Given the description of an element on the screen output the (x, y) to click on. 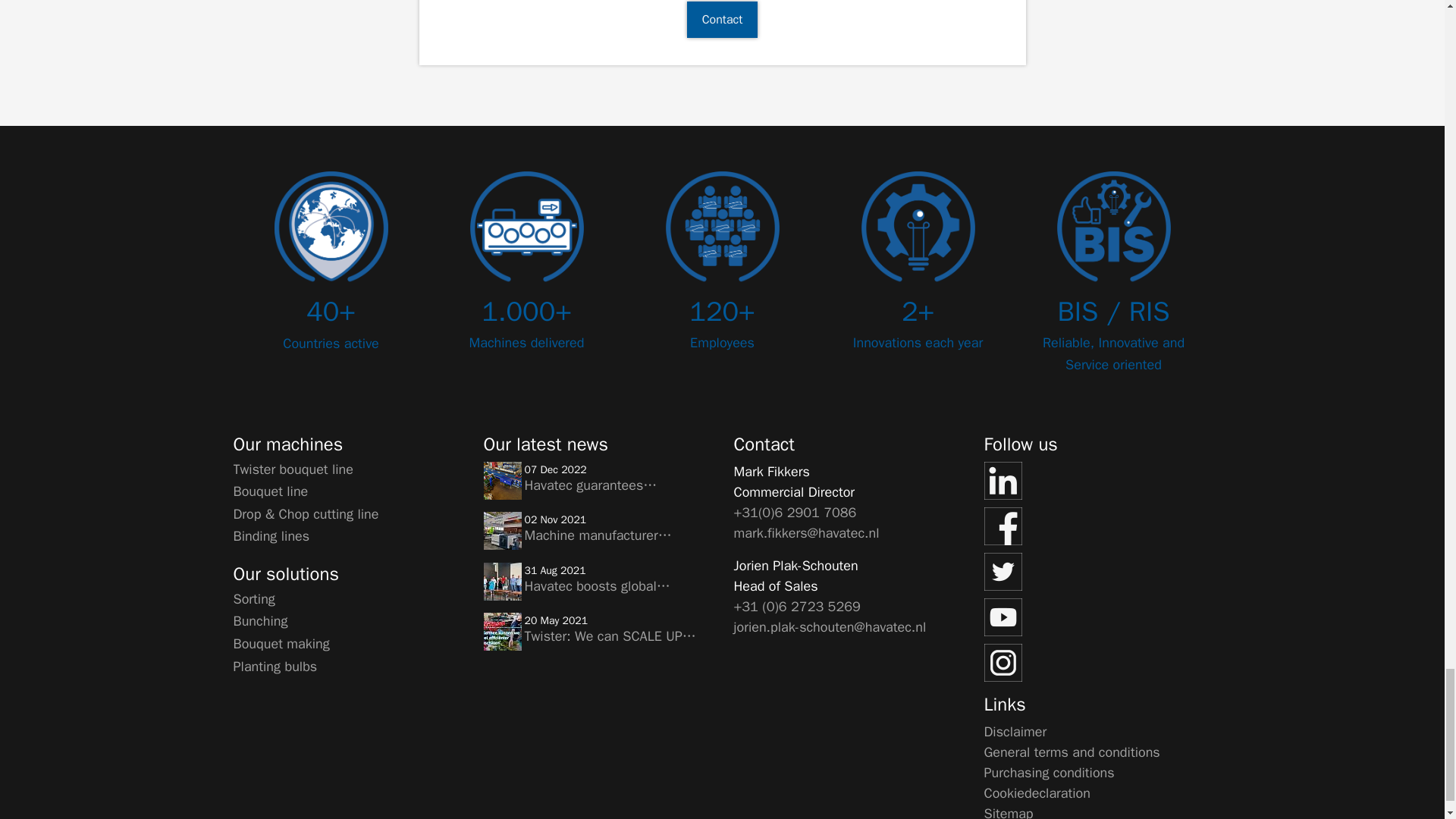
Purchasing conditions (1049, 772)
Havatec op Linkedin (1097, 480)
Disclaimer (1015, 731)
Cookiedeclaration (1037, 791)
Contact Havatec (722, 19)
Twister: We can SCALE UP efficient (502, 631)
Havatec op Twitter (1097, 571)
Sitemap (1008, 812)
Havatec guarantees continuity for Jamafa (502, 480)
Havatec op Instagram (1097, 662)
Havatec op Facebook (1097, 525)
Contact (722, 19)
Bouquet making (281, 643)
Twister bouquet line (292, 469)
